Given the description of an element on the screen output the (x, y) to click on. 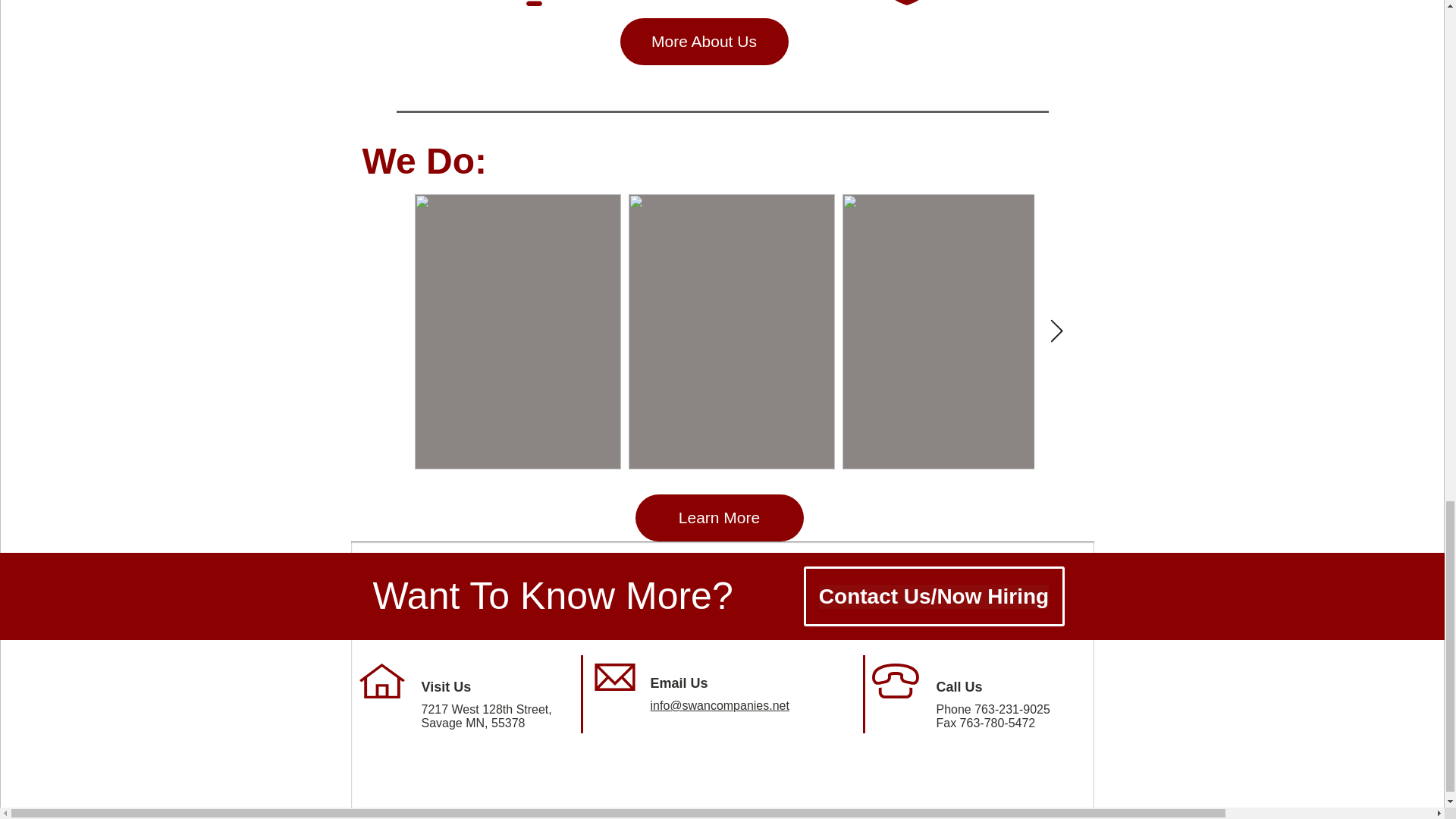
Savage MN, 55378 (473, 722)
Phone 763-231-9025 (992, 708)
Call Us (958, 686)
More About Us (704, 41)
Learn More (718, 517)
7217 West 128th Street, (486, 708)
Visit Us (446, 686)
Email Us (678, 683)
